Given the description of an element on the screen output the (x, y) to click on. 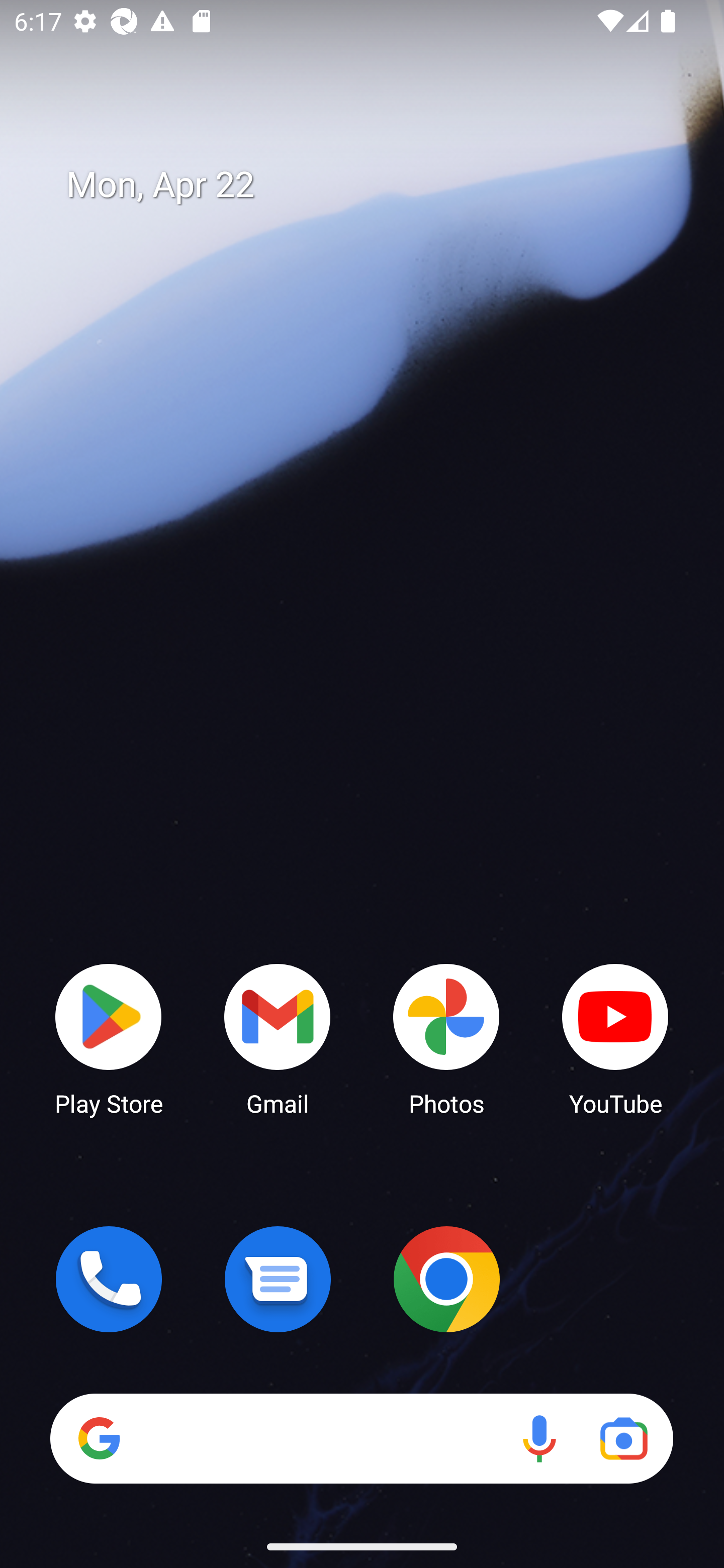
Mon, Apr 22 (375, 184)
Play Store (108, 1038)
Gmail (277, 1038)
Photos (445, 1038)
YouTube (615, 1038)
Phone (108, 1279)
Messages (277, 1279)
Chrome (446, 1279)
Search Voice search Google Lens (361, 1438)
Voice search (539, 1438)
Google Lens (623, 1438)
